Given the description of an element on the screen output the (x, y) to click on. 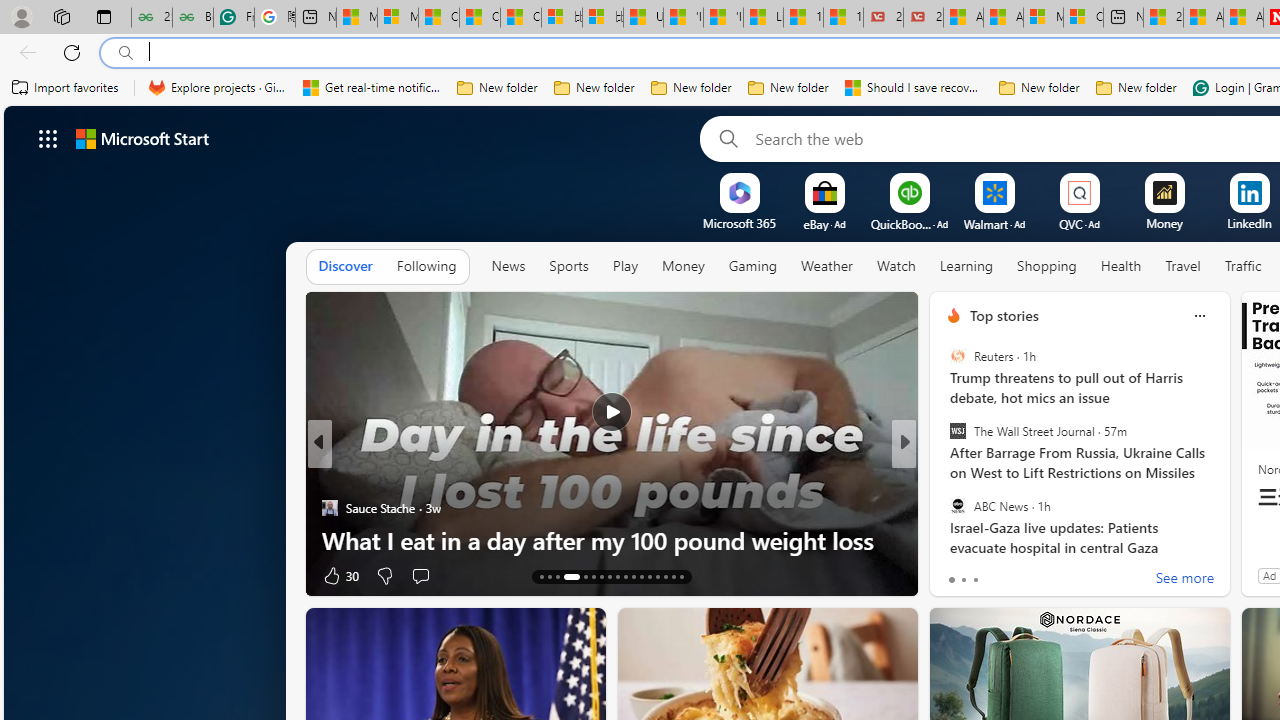
Craft Your Happy Place (944, 475)
Travel (1183, 265)
Money (682, 265)
View comments 6 Comment (1036, 575)
View comments 10 Comment (1044, 574)
Gaming (752, 265)
Weather (826, 265)
tab-2 (974, 579)
Best SSL Certificates Provider in India - GeeksforGeeks (192, 17)
Sports (569, 267)
View comments 140 Comment (1048, 574)
Top stories (1003, 315)
Search icon (125, 53)
Reuters (957, 356)
